Given the description of an element on the screen output the (x, y) to click on. 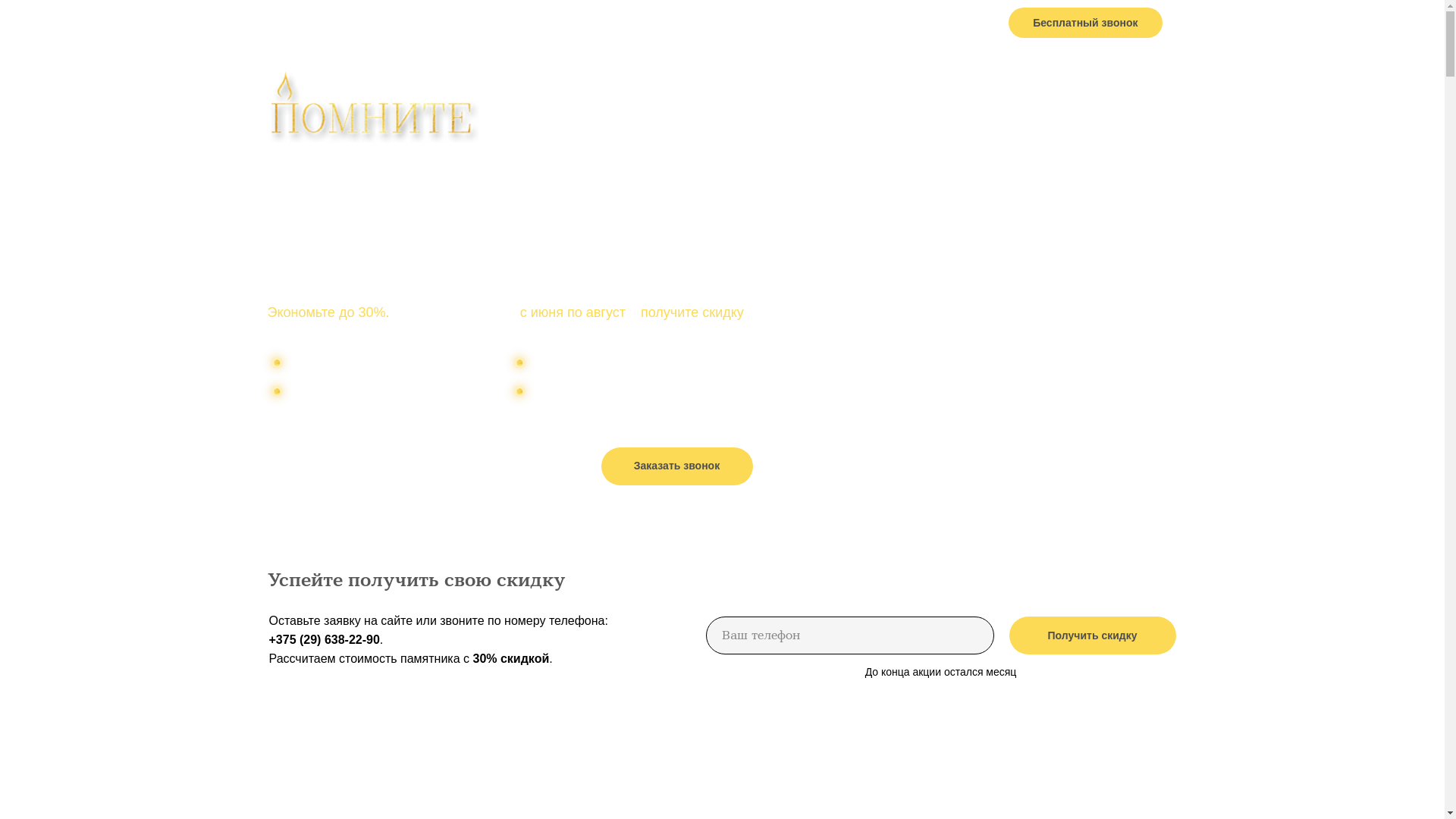
+375 (29) 638-22-90 Element type: text (412, 464)
+375 (29) 638-22-90 Element type: text (323, 639)
+375 (29) 638-22-90 Element type: text (916, 22)
